Given the description of an element on the screen output the (x, y) to click on. 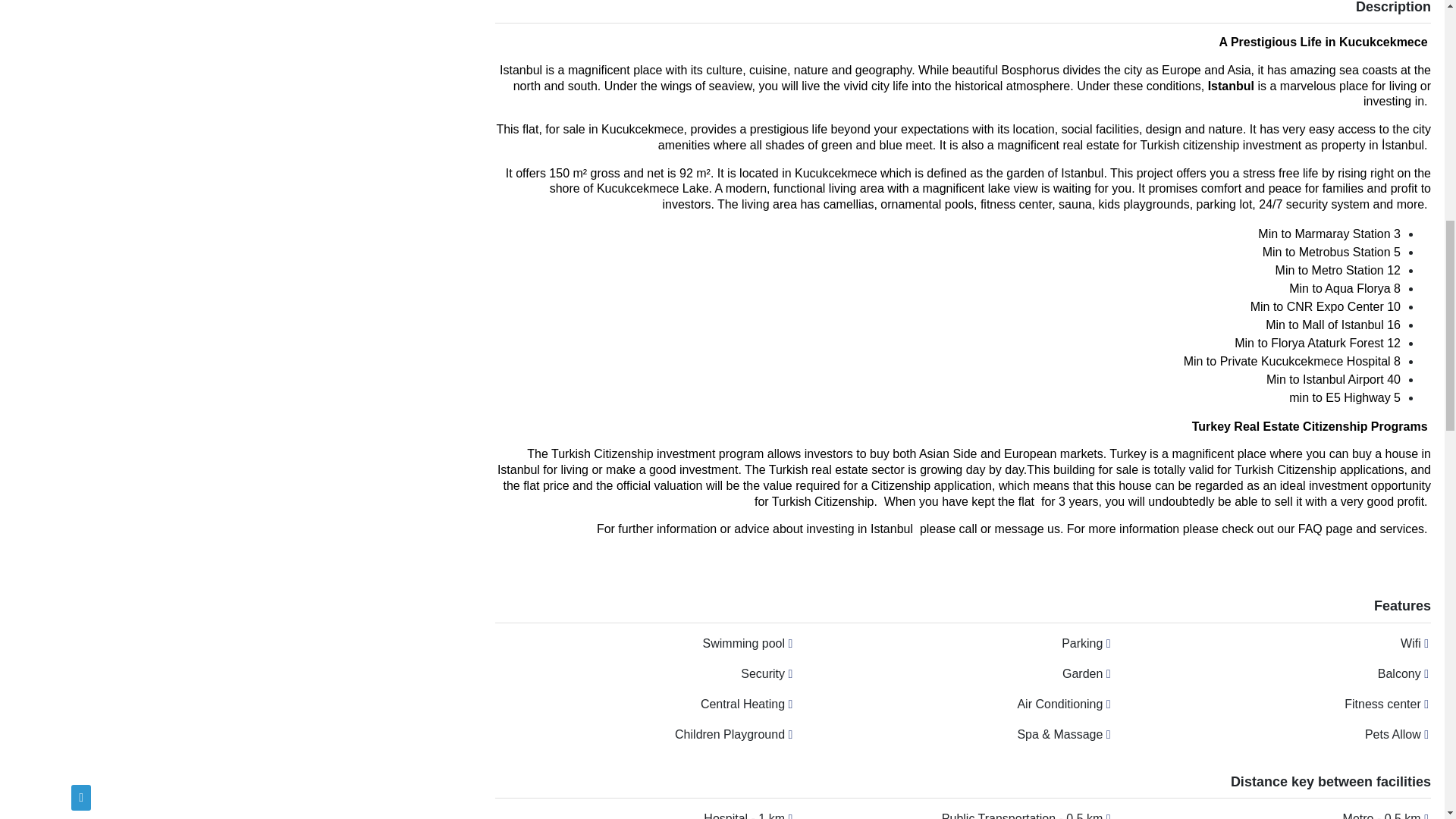
please call or message us (989, 528)
